Given the description of an element on the screen output the (x, y) to click on. 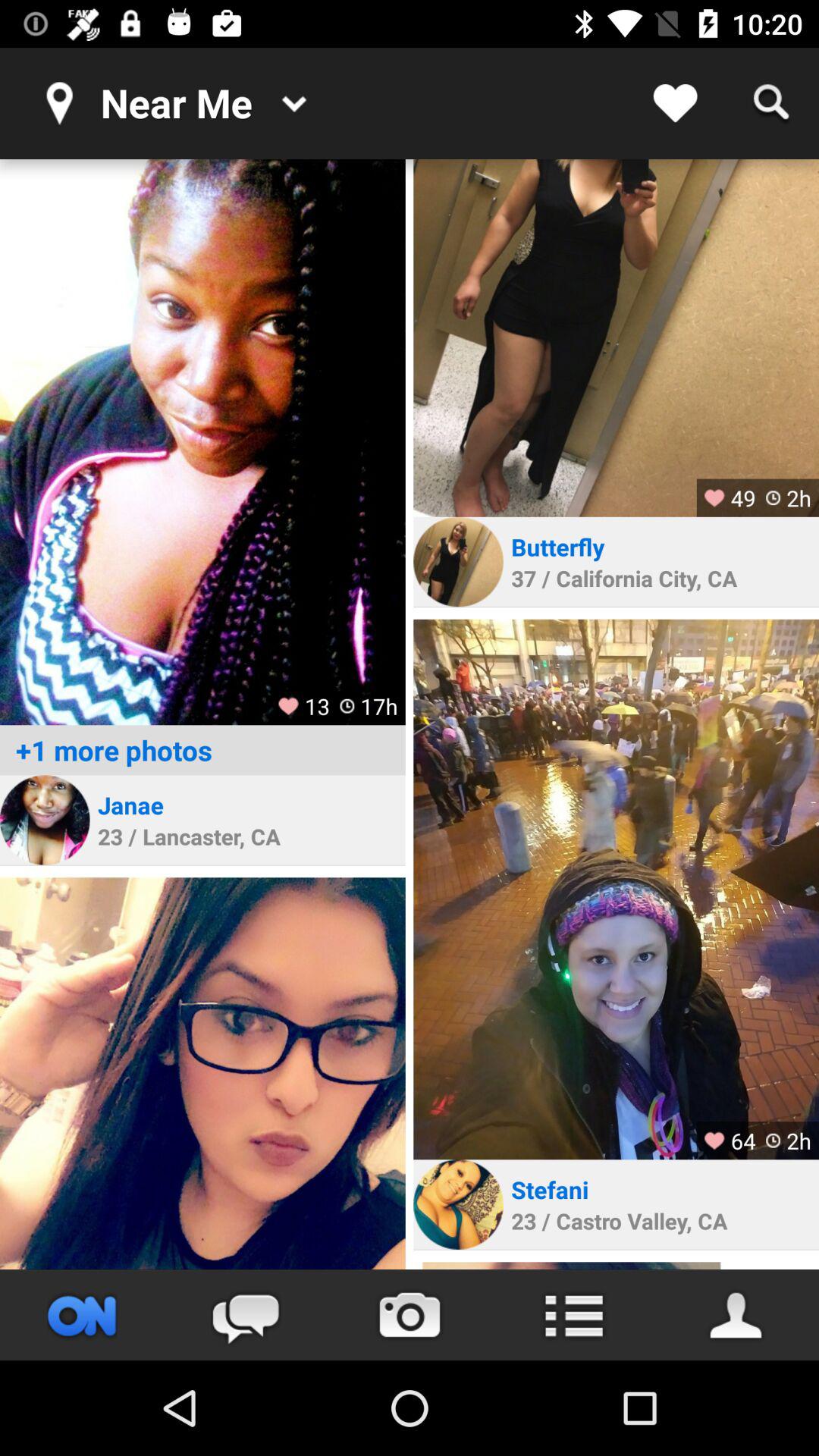
send text (245, 1315)
